Given the description of an element on the screen output the (x, y) to click on. 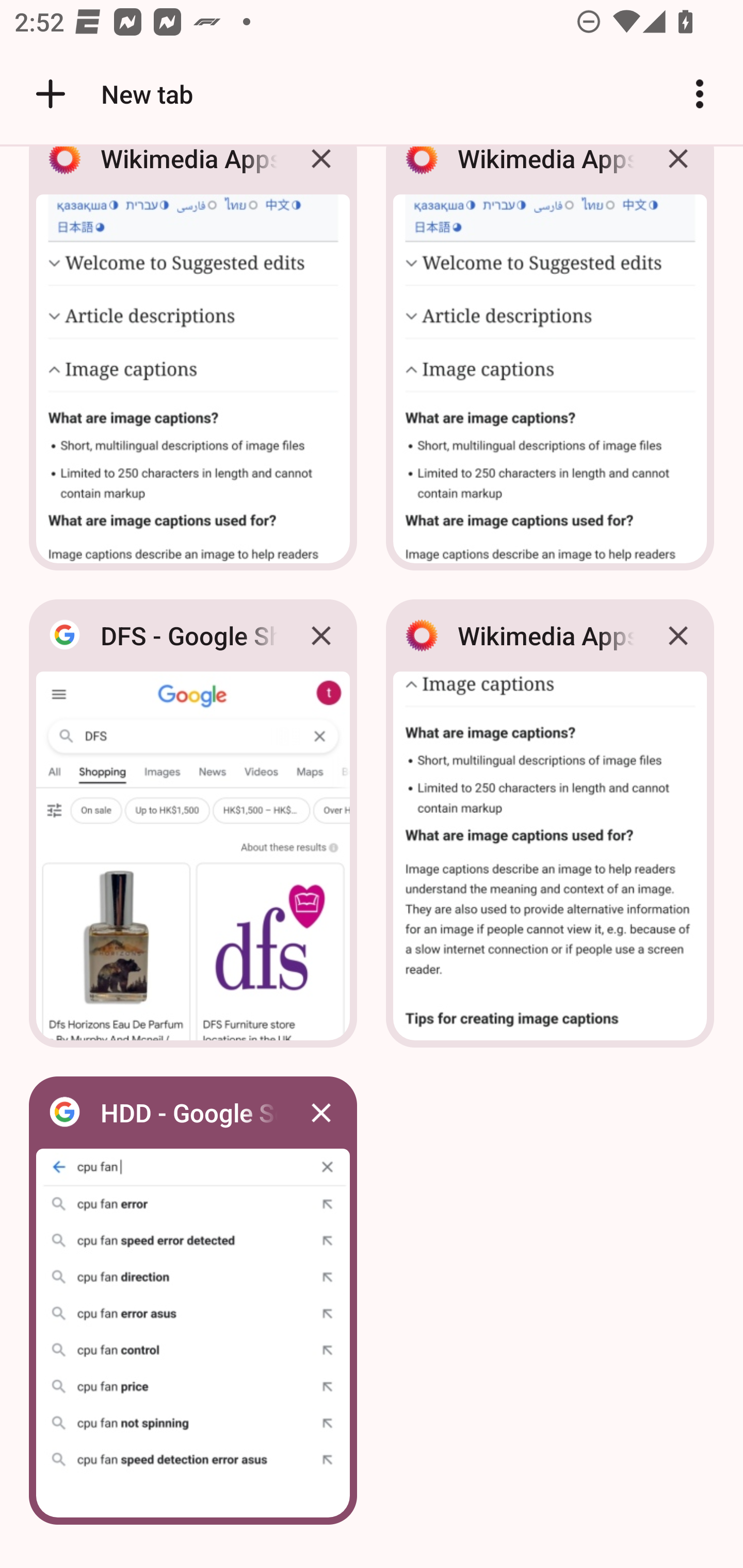
New tab (111, 93)
Customize and control Google Chrome (699, 93)
Close DFS - Google Shopping tab (320, 635)
Close HDD - Google Search tab (320, 1112)
